Given the description of an element on the screen output the (x, y) to click on. 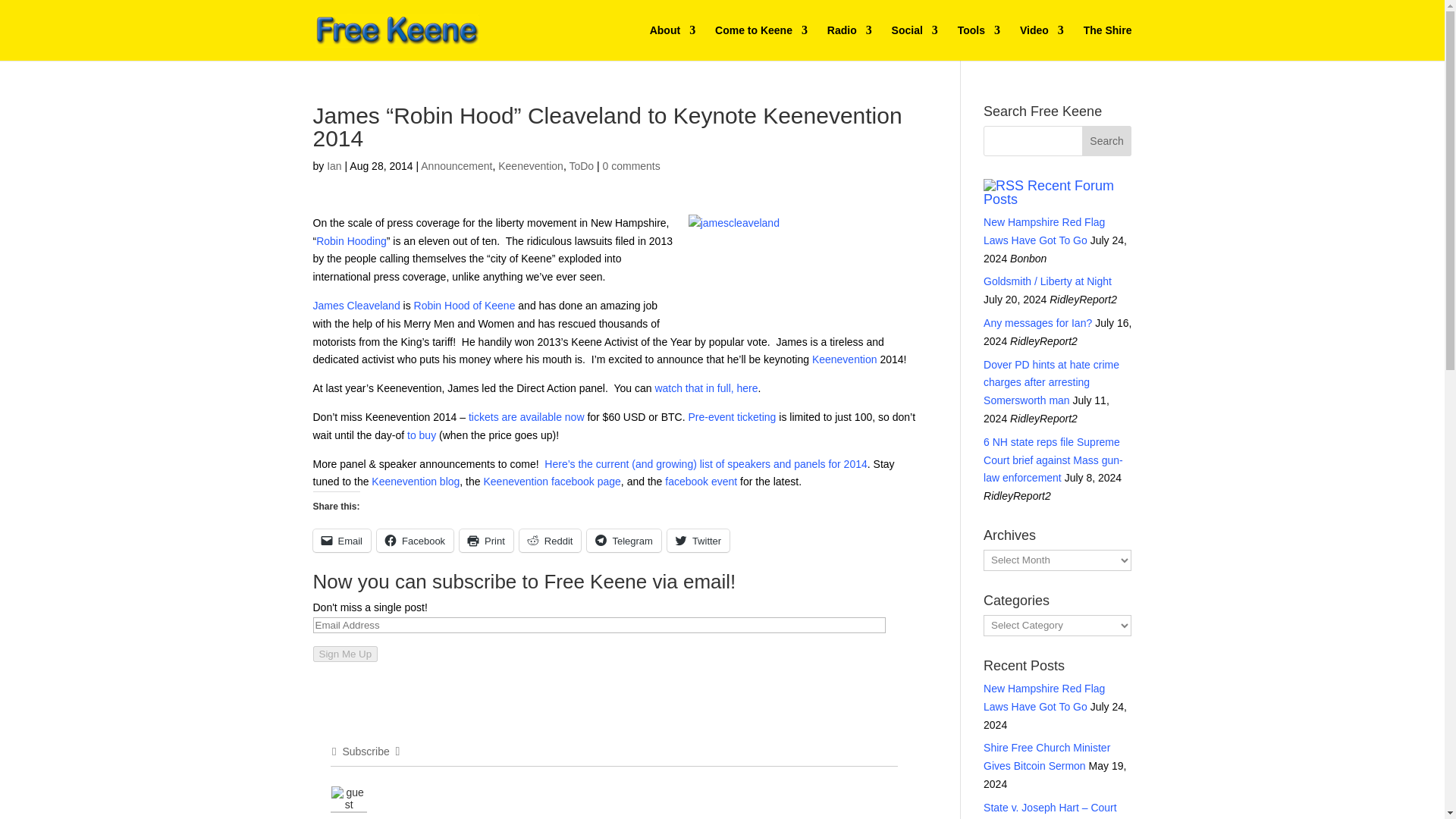
Search (1106, 141)
Tools (979, 42)
Click to share on Telegram (623, 540)
The Shire (1107, 42)
Click to share on Facebook (414, 540)
Social (914, 42)
Posts by Ian (333, 165)
Ian (333, 165)
About (672, 42)
Click to share on Twitter (697, 540)
